Given the description of an element on the screen output the (x, y) to click on. 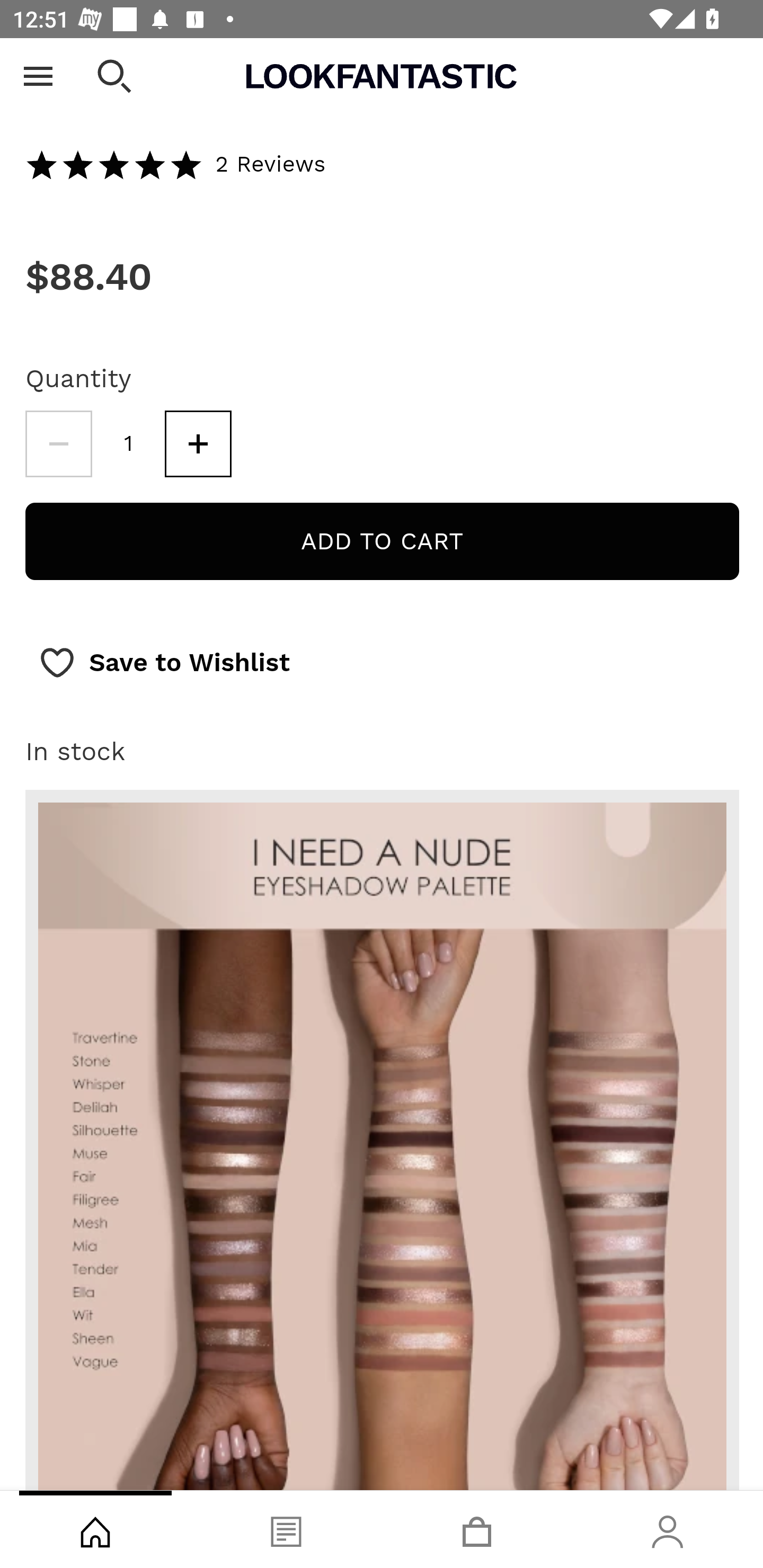
Decrease quantity (58, 443)
1, Quantity (128, 443)
Increase quantity (197, 443)
Add to cart (382, 541)
Save to Wishlist (164, 663)
Shop, tab, 1 of 4 (95, 1529)
Blog, tab, 2 of 4 (285, 1529)
Basket, tab, 3 of 4 (476, 1529)
Account, tab, 4 of 4 (667, 1529)
